Given the description of an element on the screen output the (x, y) to click on. 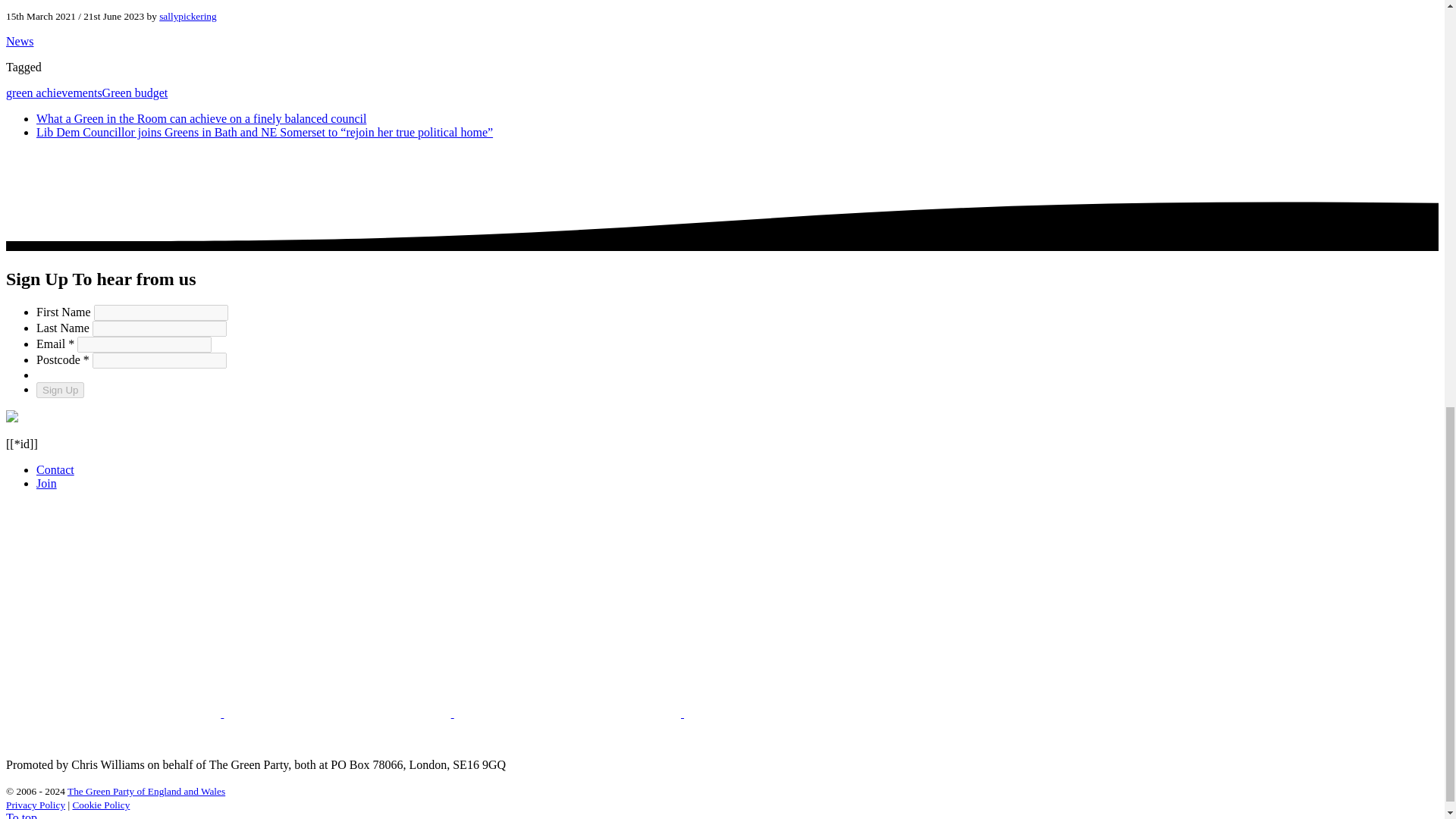
Green budget (134, 92)
News (19, 41)
Sign Up (60, 390)
Contact (55, 469)
Privacy Policy (35, 804)
The Green Party of England and Wales (145, 790)
green achievements (53, 92)
Sign Up (60, 390)
sallypickering (187, 16)
